Given the description of an element on the screen output the (x, y) to click on. 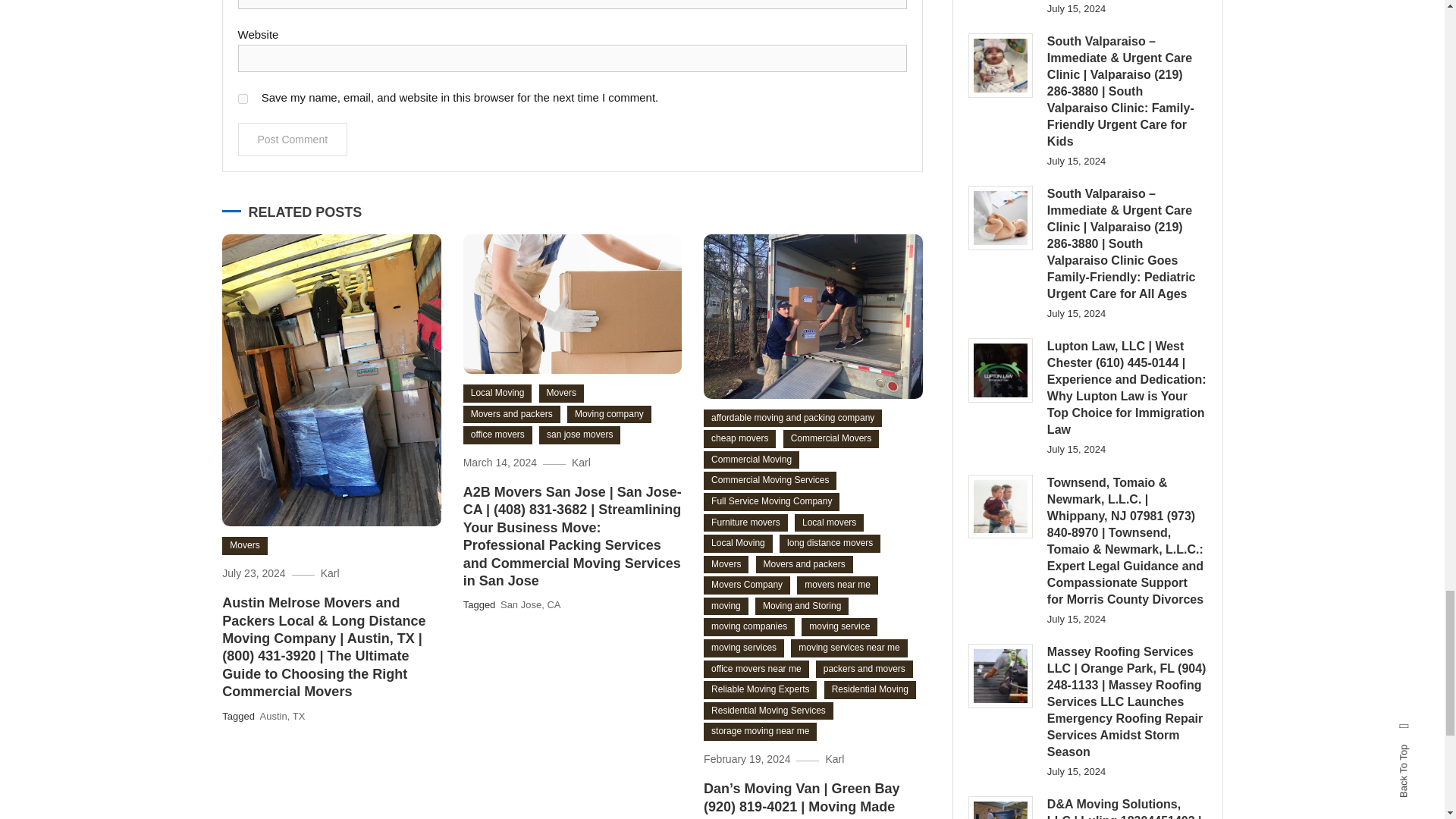
Post Comment (292, 139)
yes (242, 99)
